Given the description of an element on the screen output the (x, y) to click on. 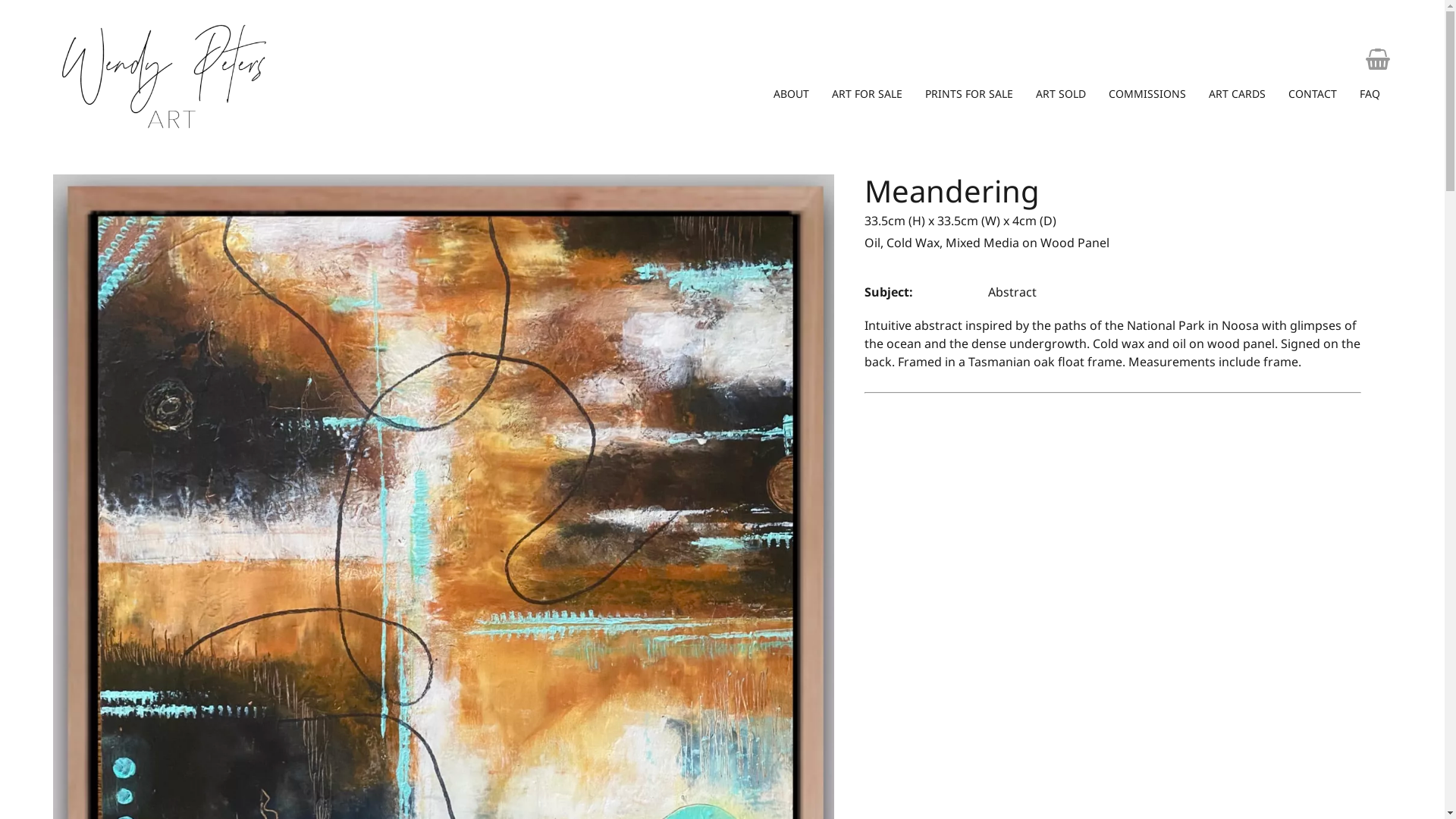
COMMISSIONS Element type: text (1147, 93)
ART FOR SALE Element type: text (866, 93)
ABOUT Element type: text (791, 93)
CONTACT Element type: text (1312, 93)
FAQ Element type: text (1369, 93)
ART CARDS Element type: text (1237, 93)
PRINTS FOR SALE Element type: text (968, 93)
ART SOLD Element type: text (1060, 93)
